Given the description of an element on the screen output the (x, y) to click on. 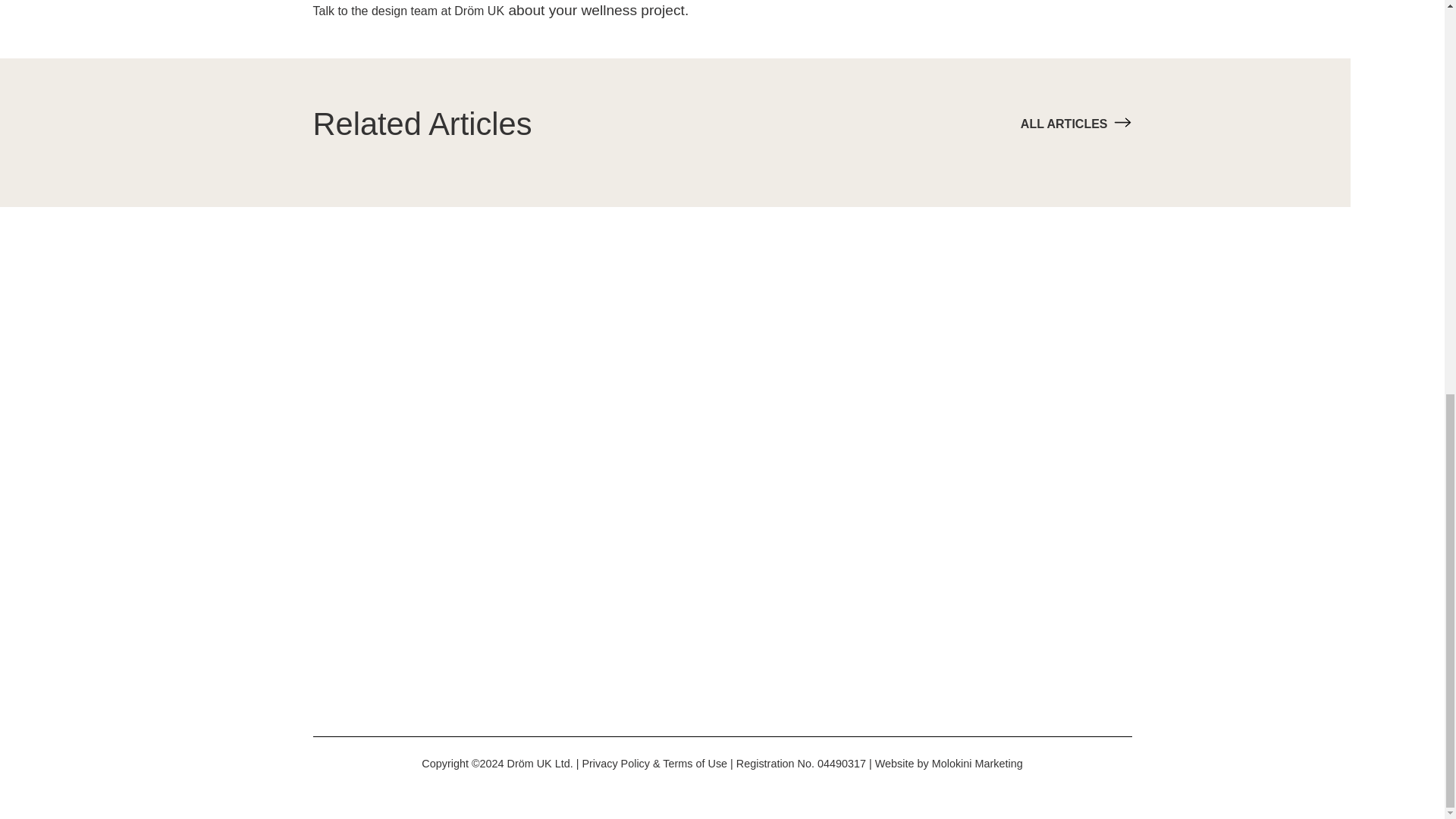
ALL ARTICLES (1076, 124)
